Given the description of an element on the screen output the (x, y) to click on. 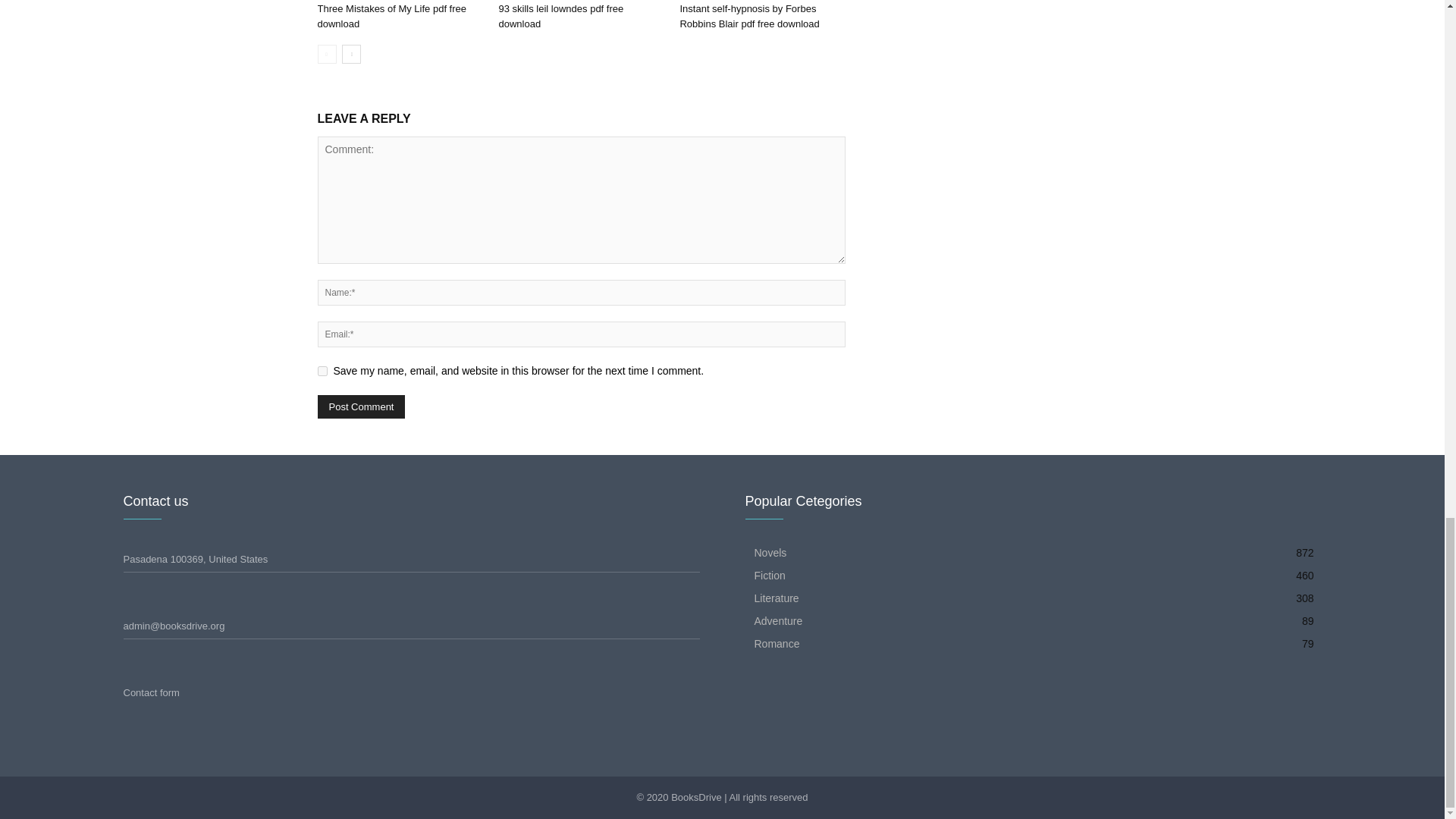
Post Comment (360, 406)
yes (321, 370)
